Given the description of an element on the screen output the (x, y) to click on. 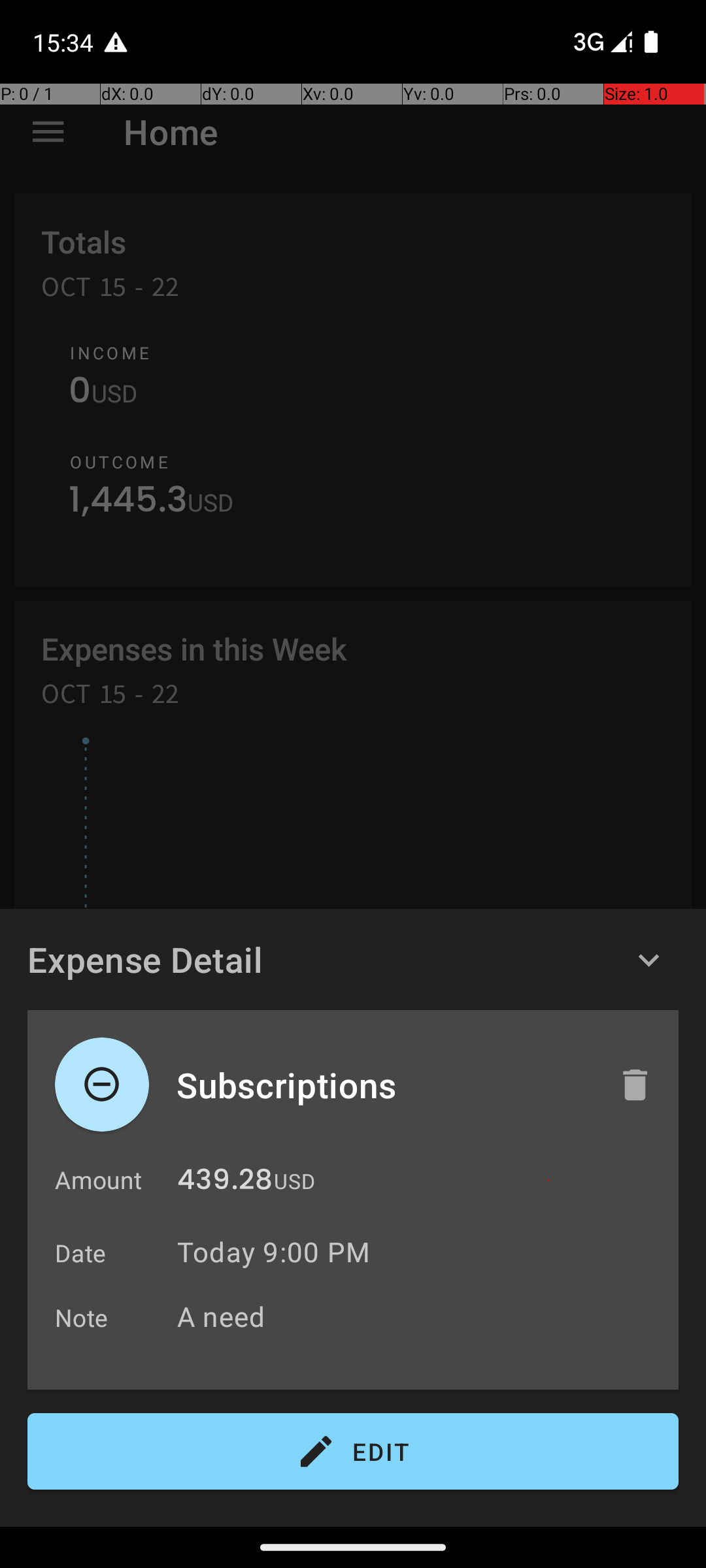
Subscriptions Element type: android.widget.TextView (383, 1084)
439.28 Element type: android.widget.TextView (224, 1182)
Today 9:00 PM Element type: android.widget.TextView (273, 1251)
A need Element type: android.widget.TextView (420, 1315)
